Given the description of an element on the screen output the (x, y) to click on. 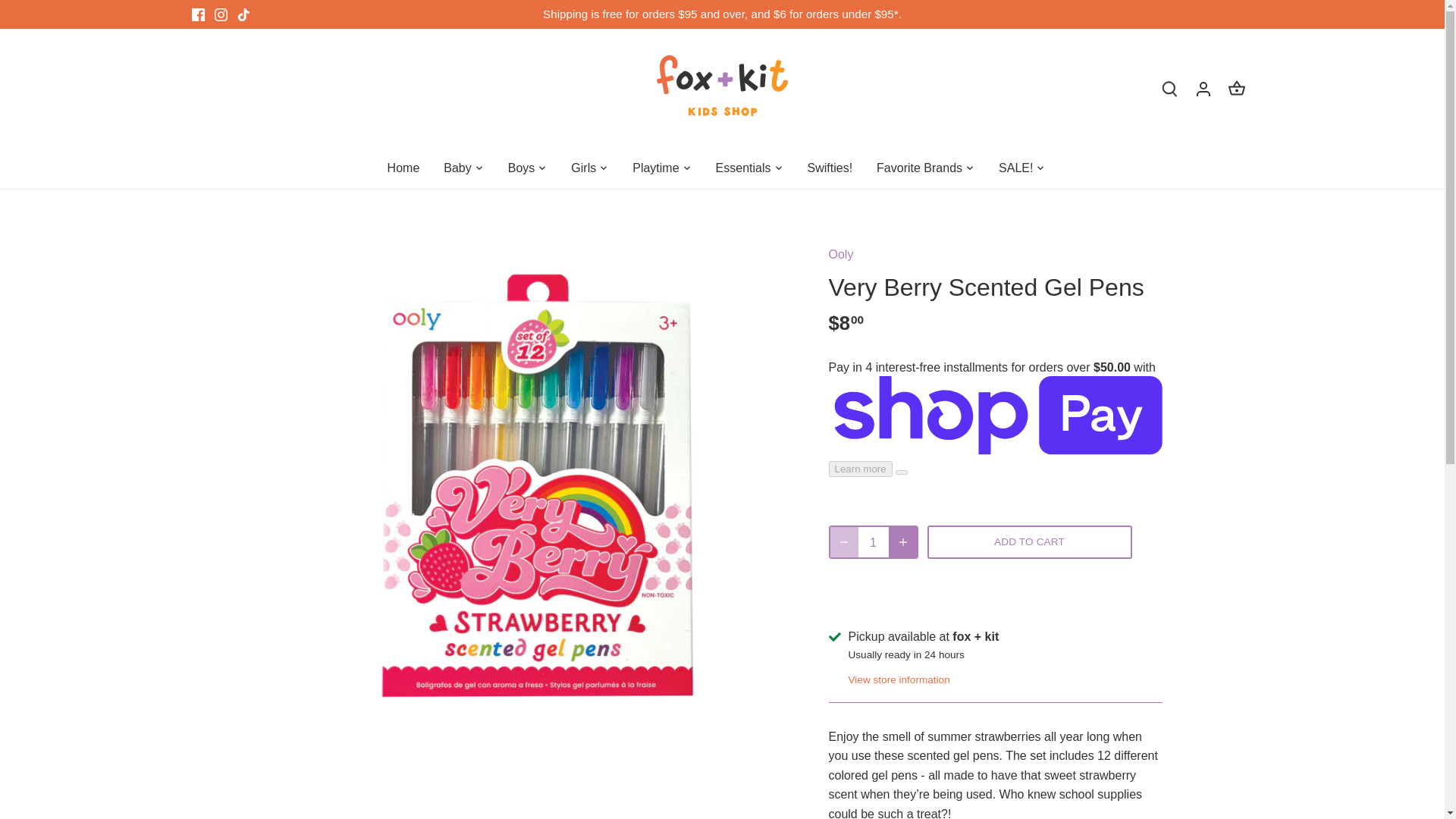
Baby (456, 168)
Instagram (220, 14)
Boys (521, 168)
1 (873, 541)
Facebook (196, 14)
Girls (583, 168)
Home (409, 168)
